Given the description of an element on the screen output the (x, y) to click on. 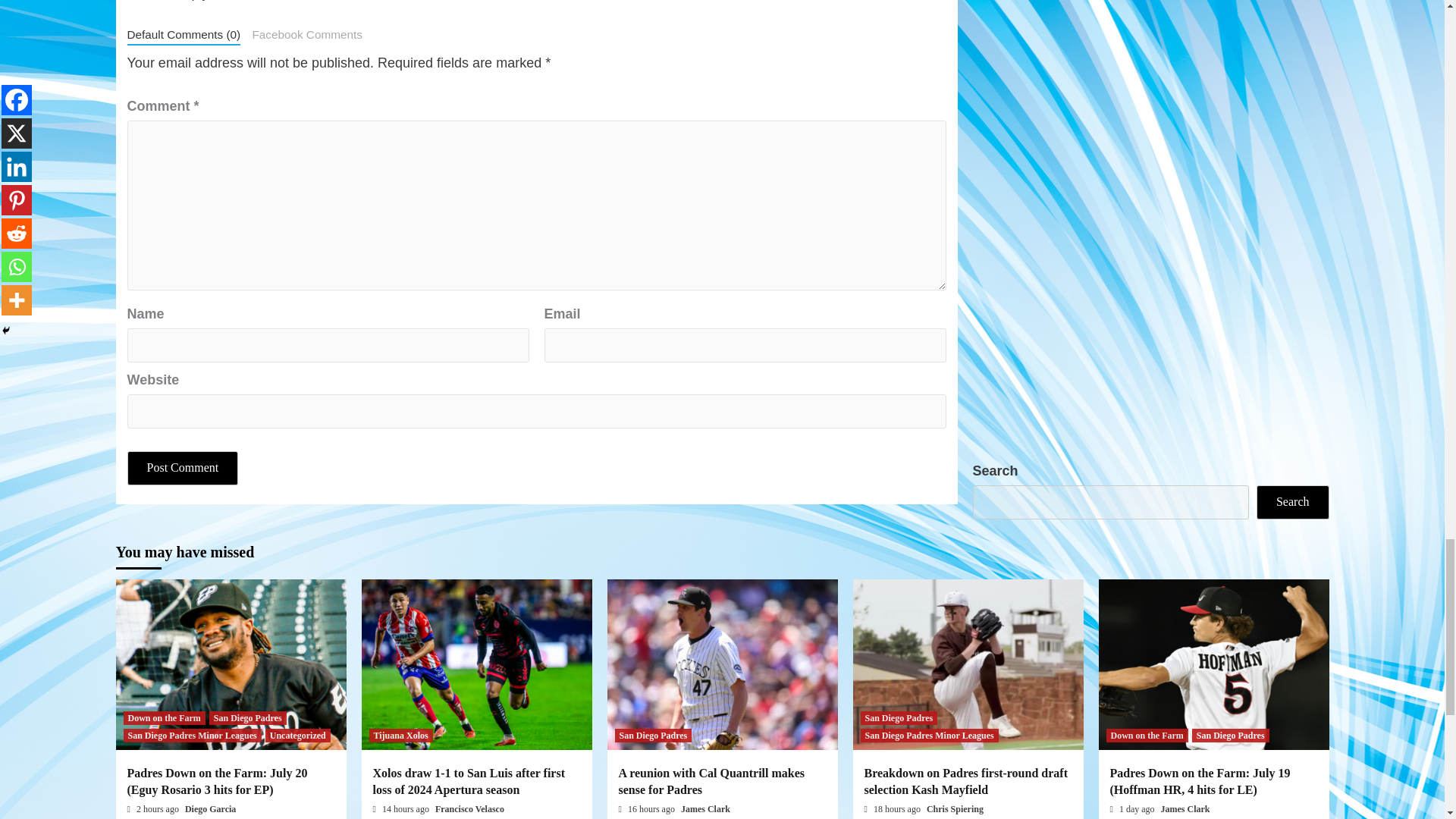
Post Comment (183, 468)
